Given the description of an element on the screen output the (x, y) to click on. 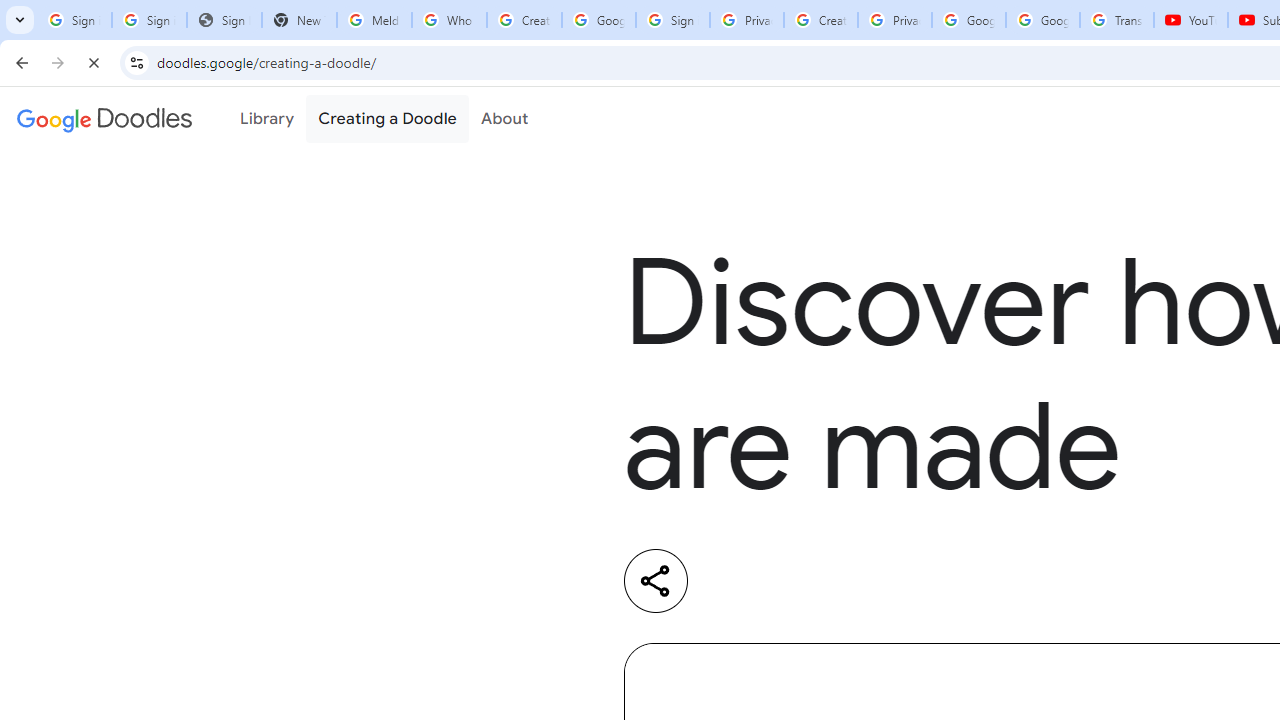
Google doodles (104, 119)
YouTube (1190, 20)
Google Account (1043, 20)
Creating a Doodle (387, 119)
Library (267, 119)
Sign In - USA TODAY (224, 20)
